Given the description of an element on the screen output the (x, y) to click on. 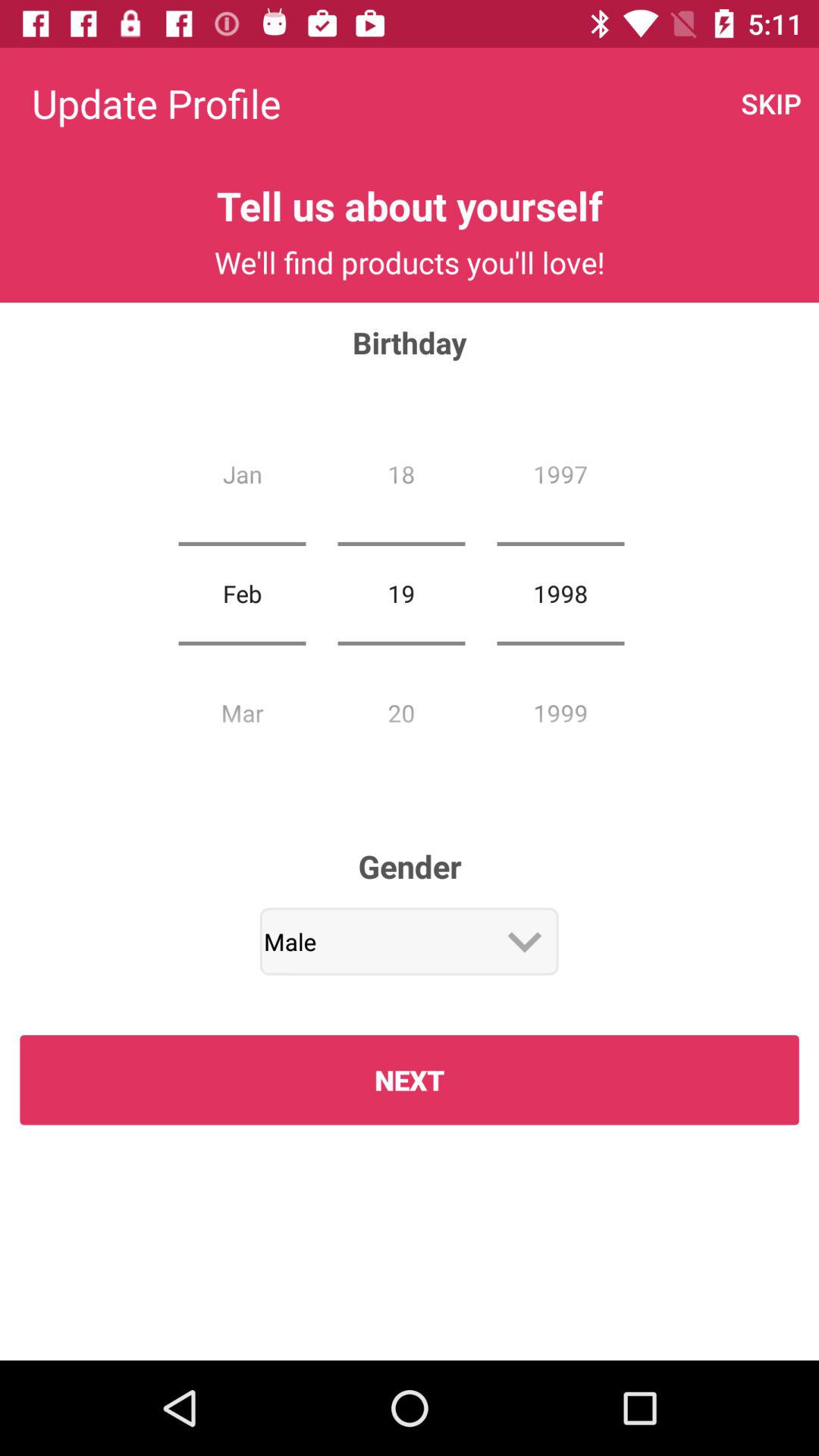
choose the icon next to the 19 item (241, 593)
